Given the description of an element on the screen output the (x, y) to click on. 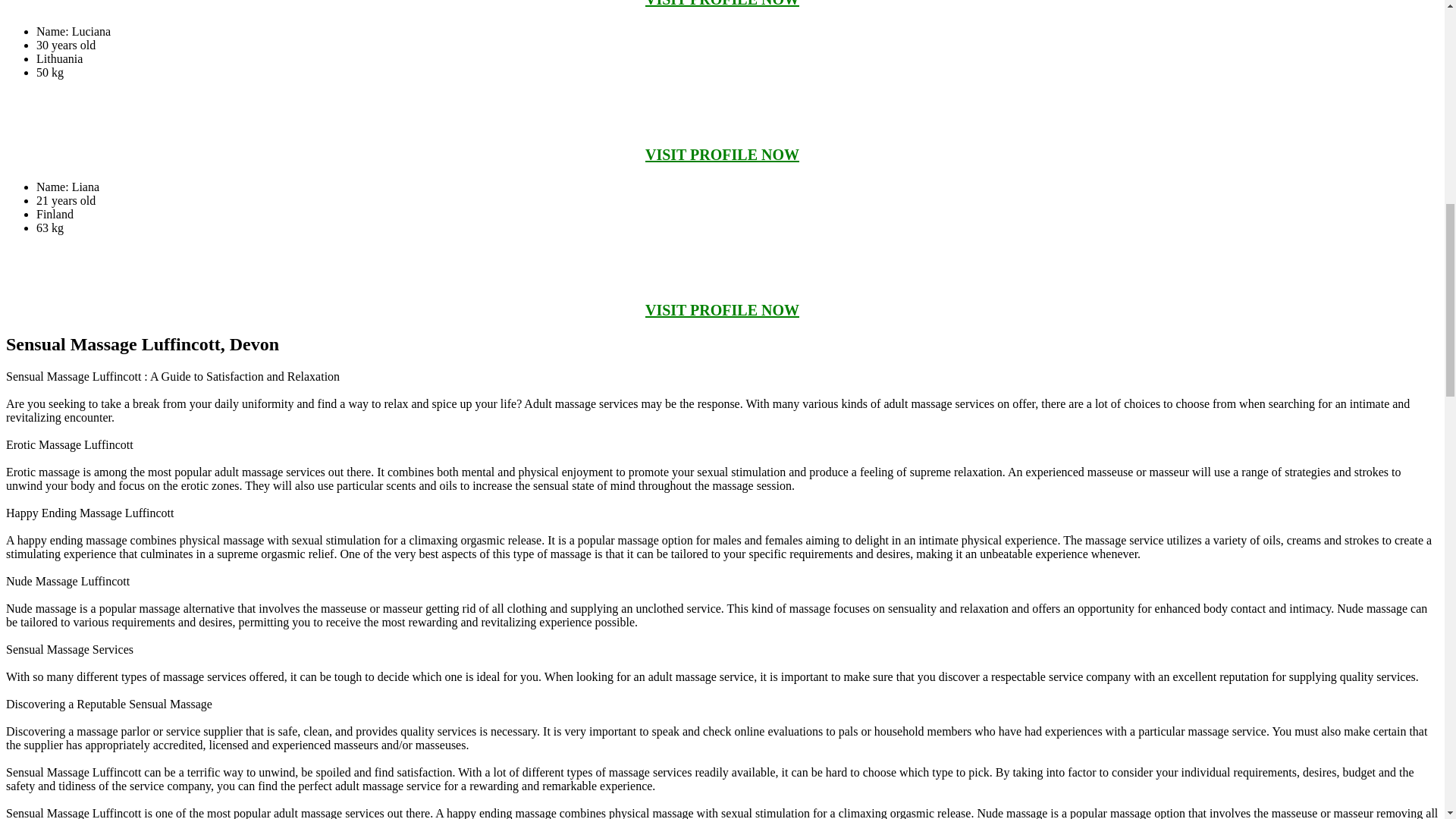
VISIT PROFILE NOW (722, 310)
VISIT PROFILE NOW (722, 154)
VISIT PROFILE NOW (722, 3)
